Given the description of an element on the screen output the (x, y) to click on. 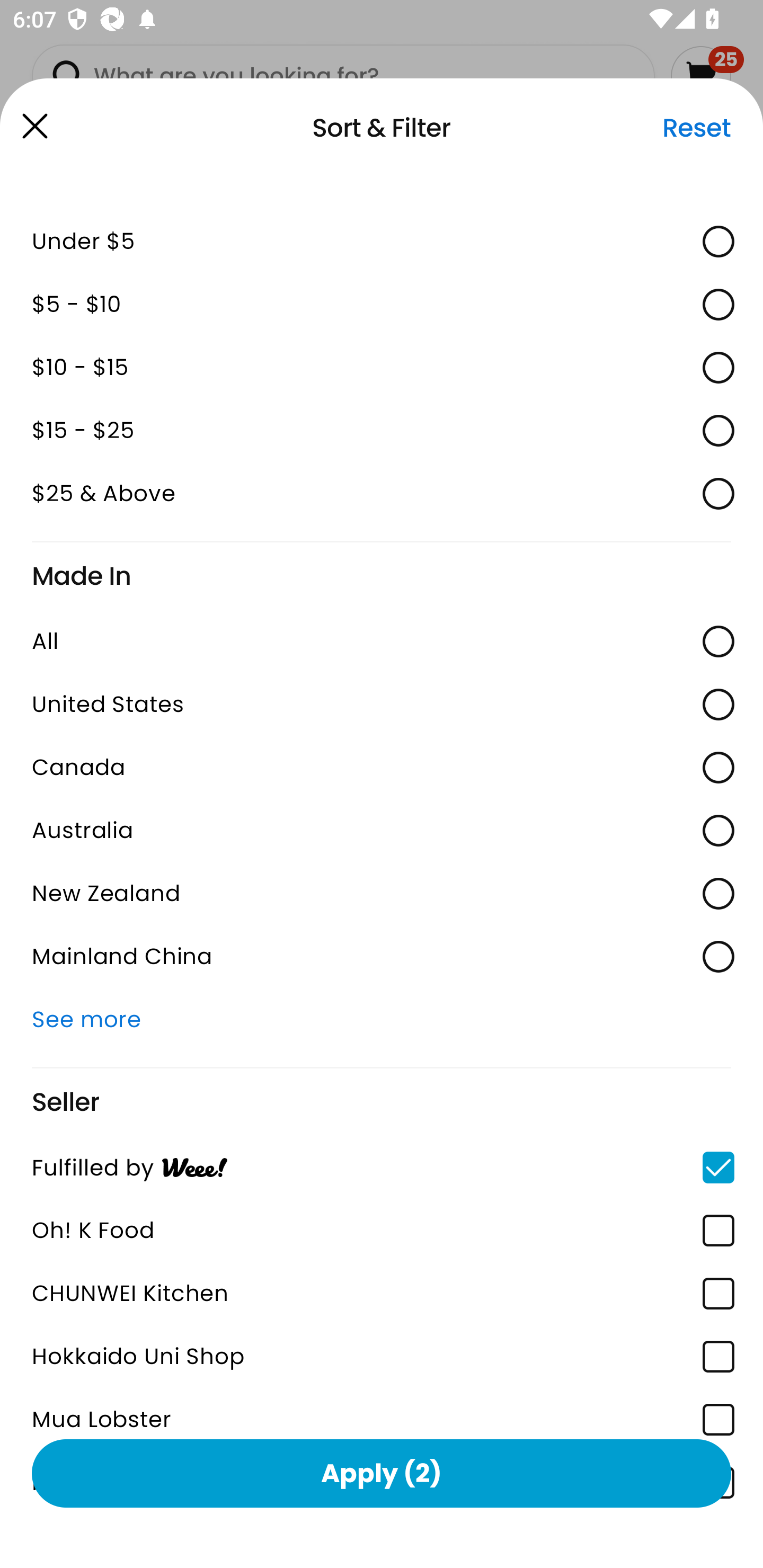
Reset (696, 127)
See more (381, 1018)
Apply (2) (381, 1472)
